Given the description of an element on the screen output the (x, y) to click on. 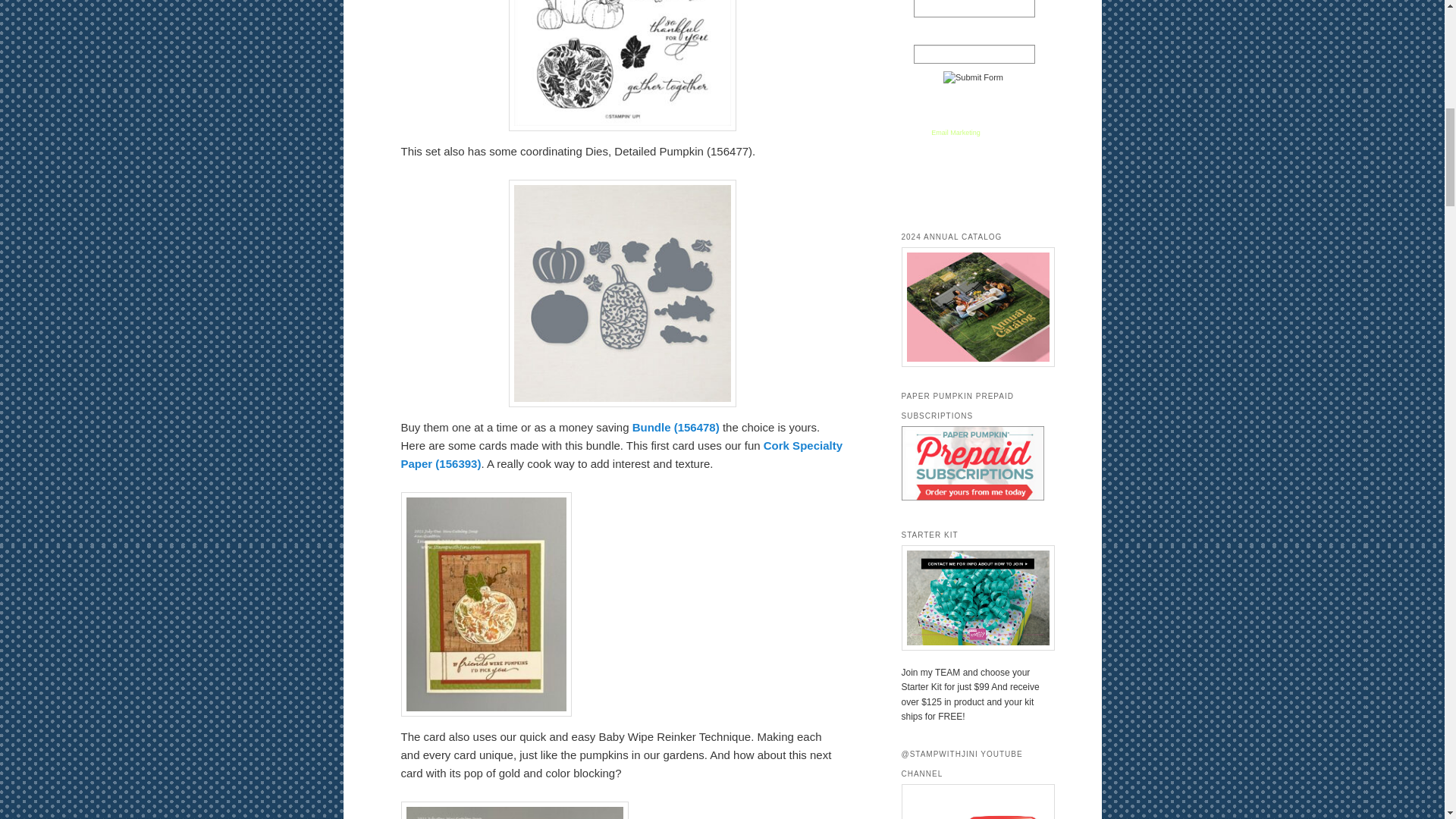
Email Marketing (955, 132)
2024 Annual Catalog  (972, 306)
Paper Pumpkin Prepaid Subscriptions (972, 497)
starter kit (972, 597)
